Given the description of an element on the screen output the (x, y) to click on. 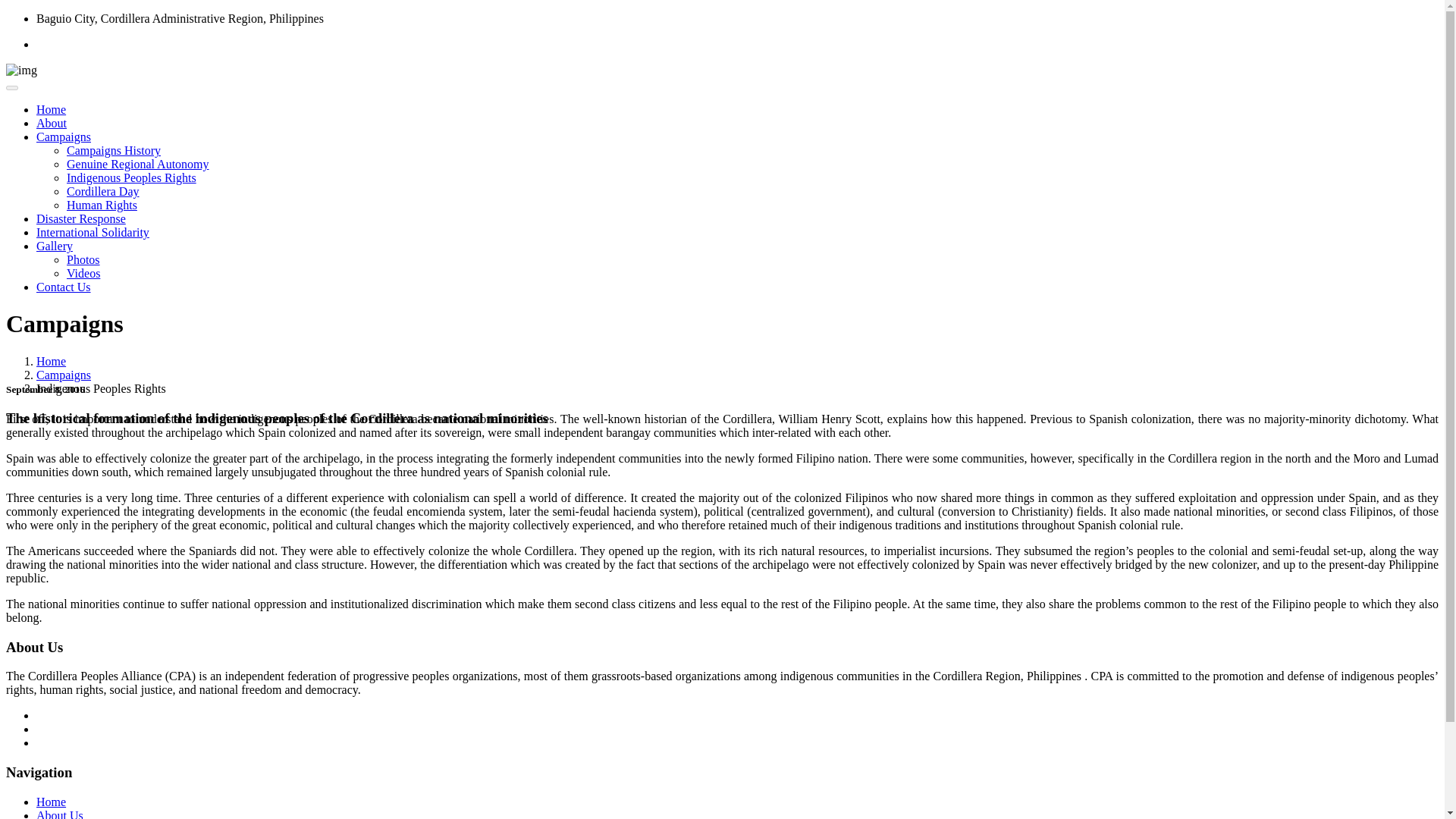
International Solidarity (92, 232)
Home (50, 801)
Contact Us (63, 286)
Campaigns History (113, 150)
Home (50, 360)
Human Rights (101, 205)
Photos (83, 259)
Gallery (54, 245)
Genuine Regional Autonomy (137, 164)
Home (50, 109)
